Given the description of an element on the screen output the (x, y) to click on. 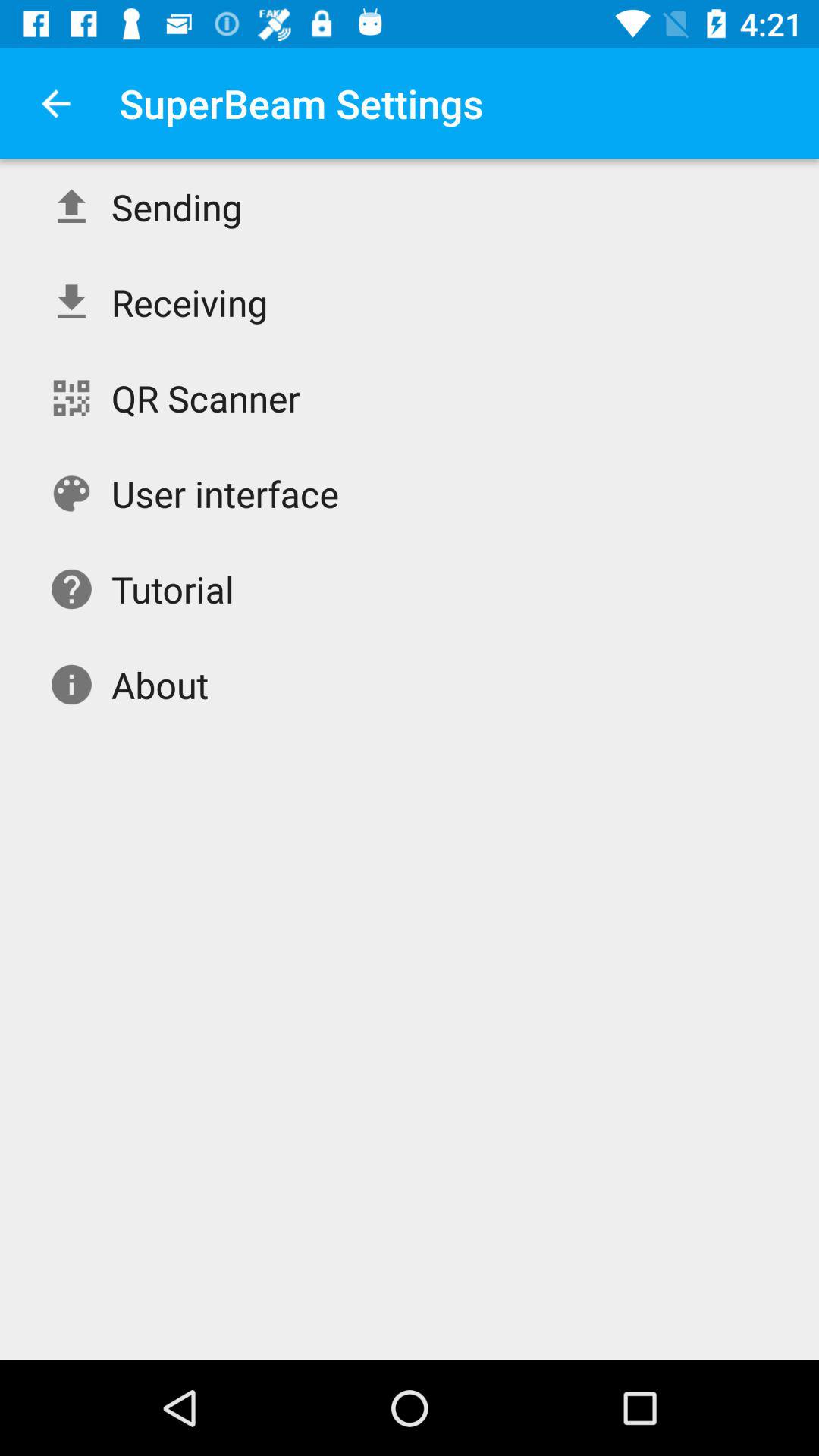
turn off item to the left of superbeam settings (55, 103)
